Given the description of an element on the screen output the (x, y) to click on. 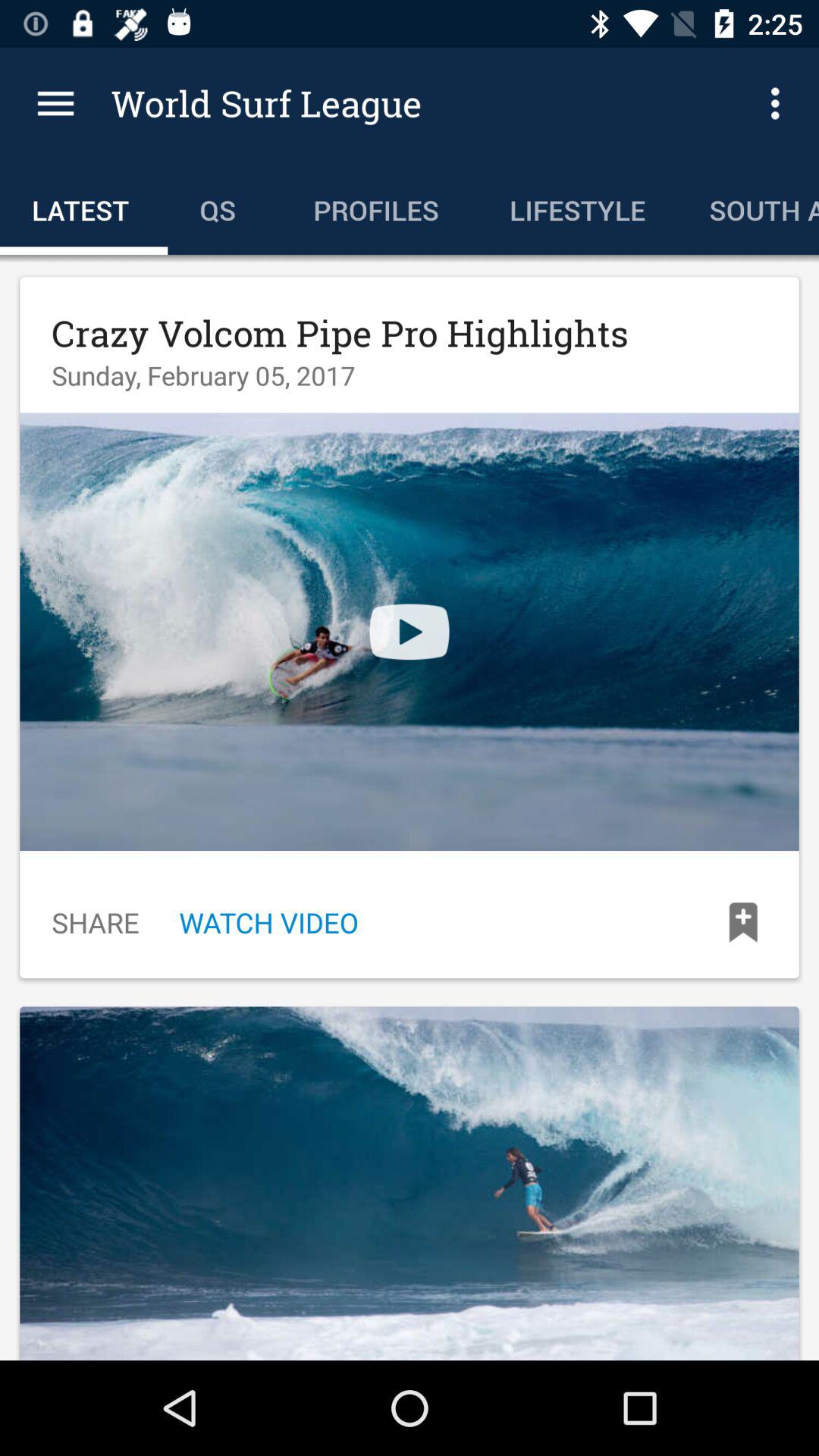
click icon above latest  icon (55, 103)
